Given the description of an element on the screen output the (x, y) to click on. 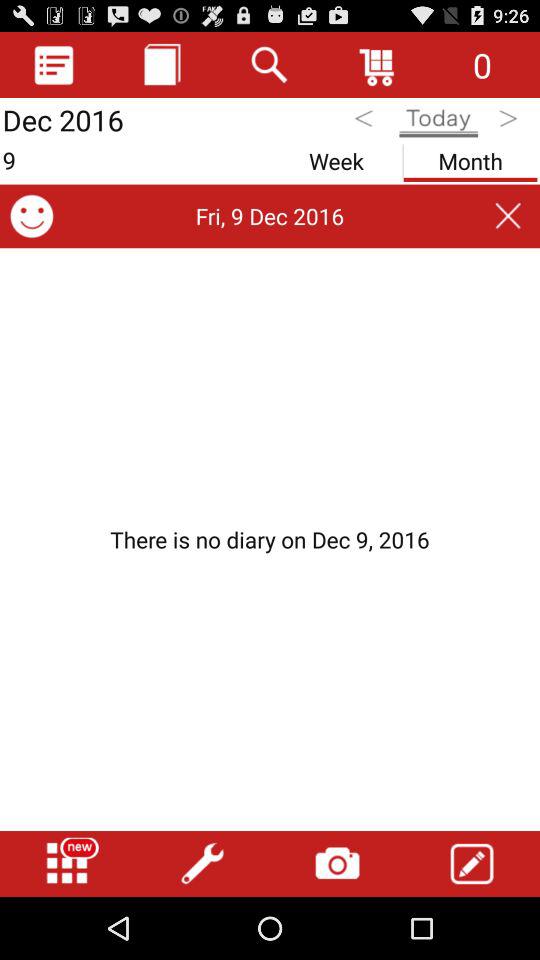
go to diary entry for tomorrow (510, 121)
